Given the description of an element on the screen output the (x, y) to click on. 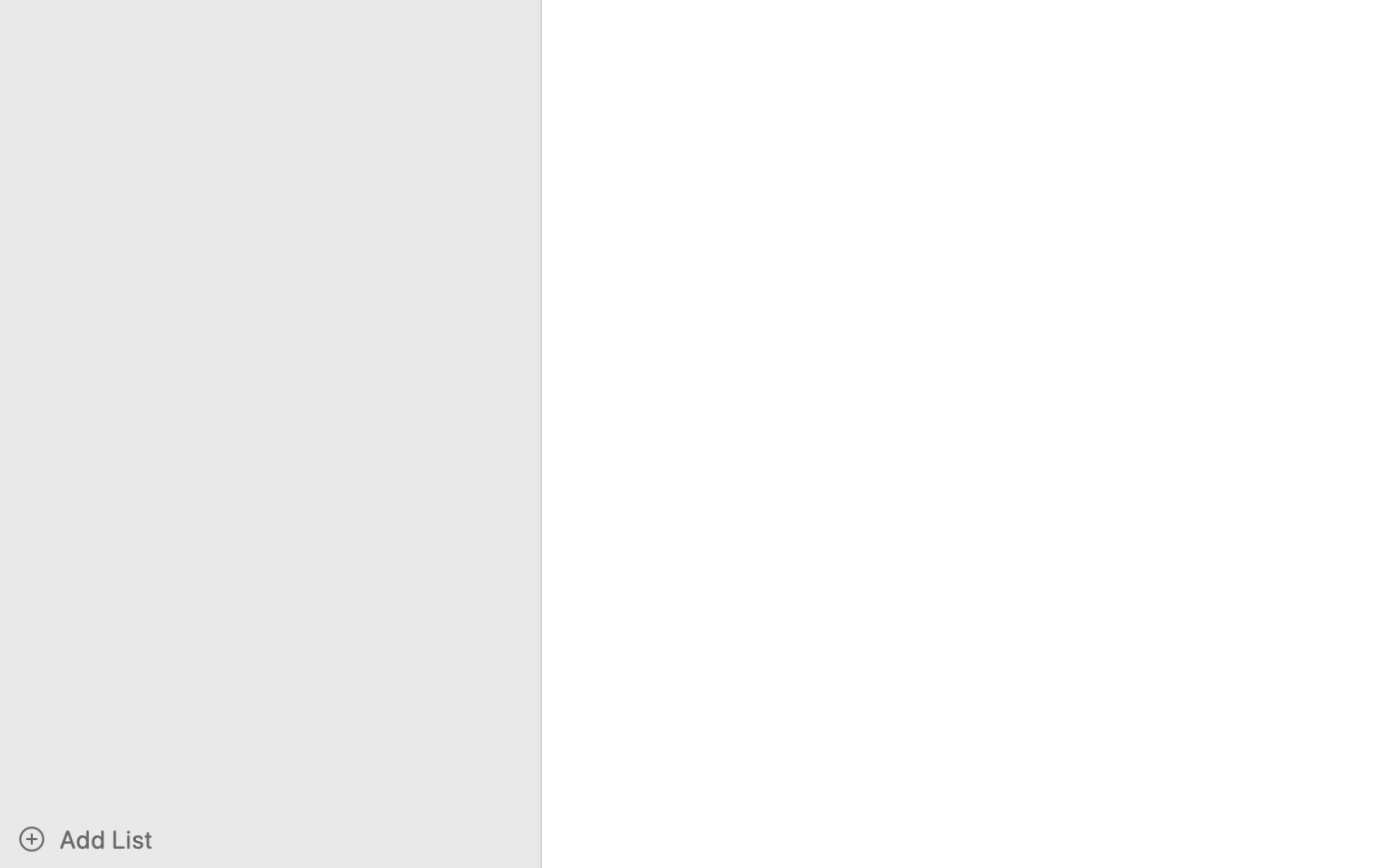
Mon Jun 8 Element type: AXStaticText (442, 847)
